Given the description of an element on the screen output the (x, y) to click on. 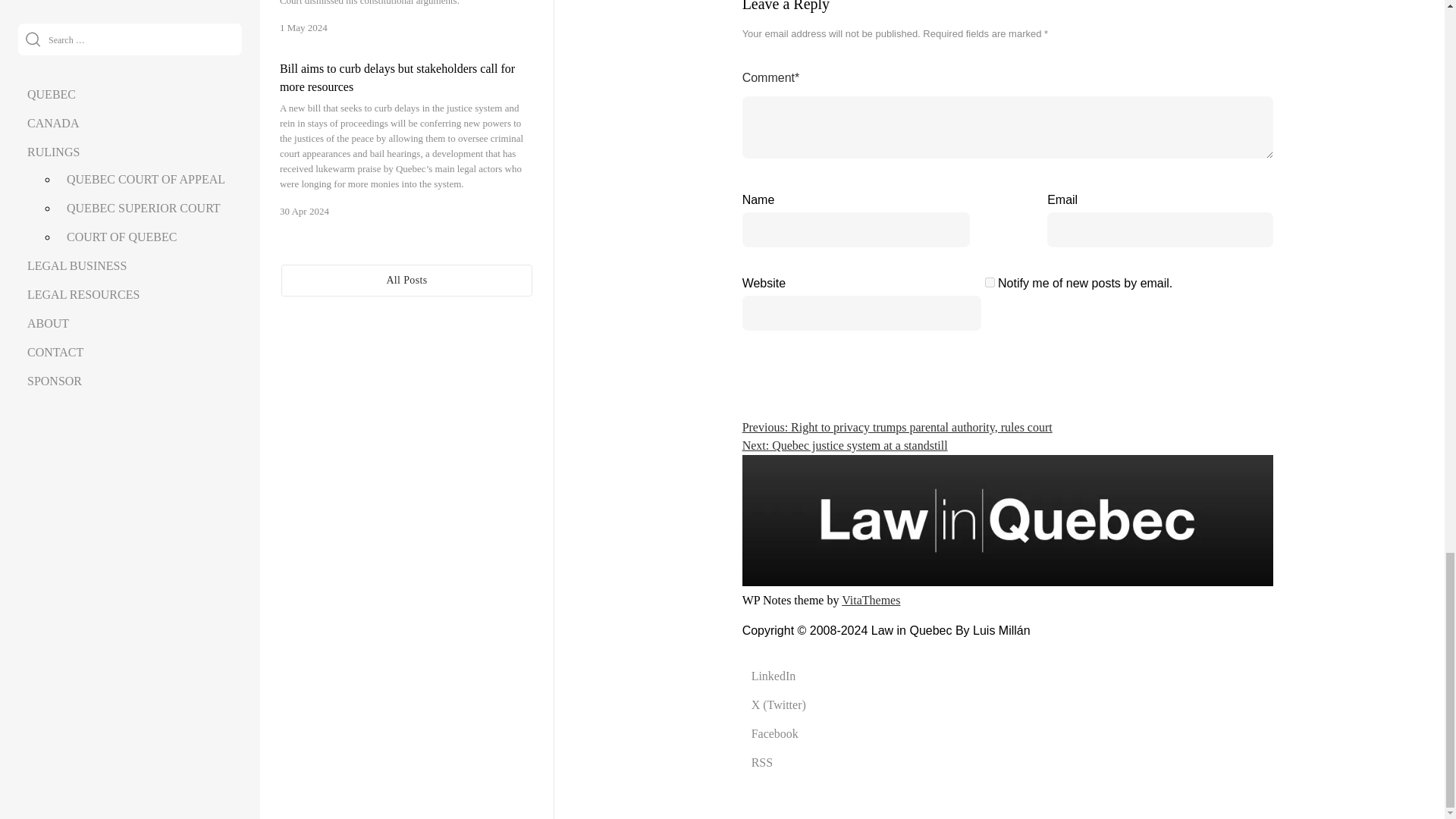
Post Comment (1211, 290)
subscribe (989, 282)
All Posts (406, 280)
